Given the description of an element on the screen output the (x, y) to click on. 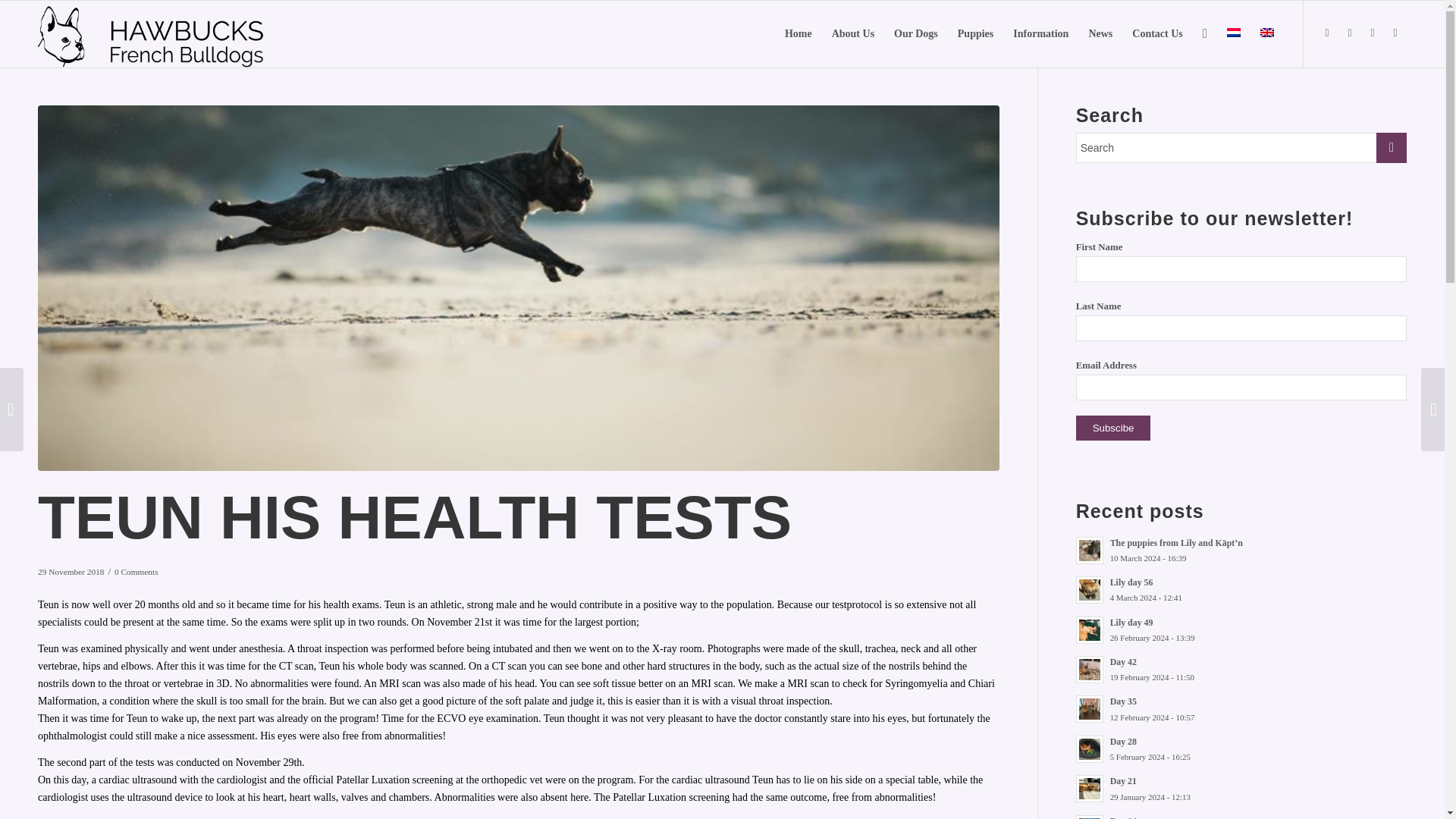
About Us (852, 33)
Instagram (1372, 33)
Nederlands (1233, 31)
Mail (1349, 33)
Information (1040, 33)
Our Dogs (915, 33)
English (1267, 31)
Subscibe (1113, 427)
Facebook (1327, 33)
Youtube (1395, 33)
